Given the description of an element on the screen output the (x, y) to click on. 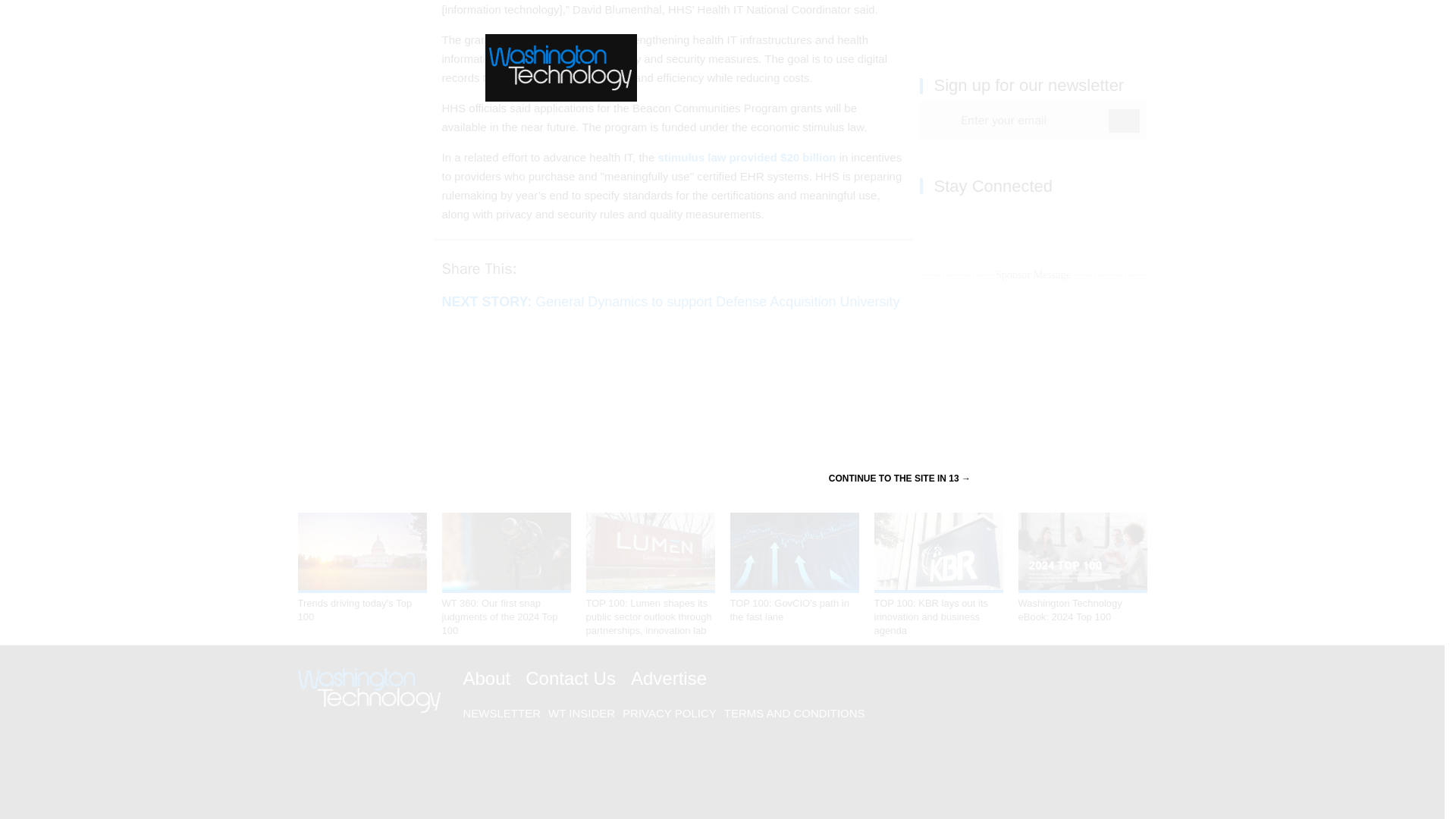
3rd party ad content (1032, 19)
